Given the description of an element on the screen output the (x, y) to click on. 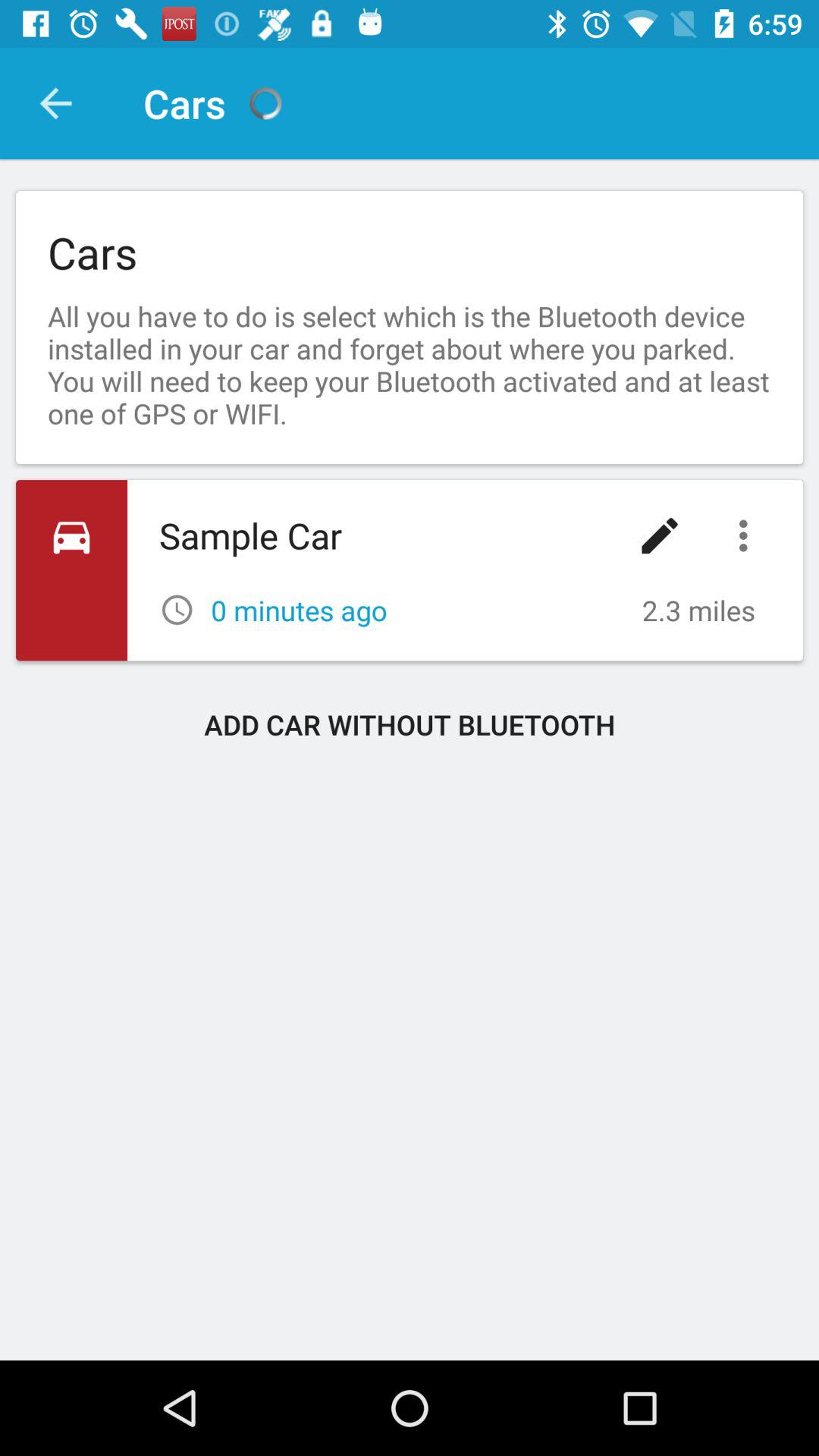
click the item next to cars (55, 103)
